Given the description of an element on the screen output the (x, y) to click on. 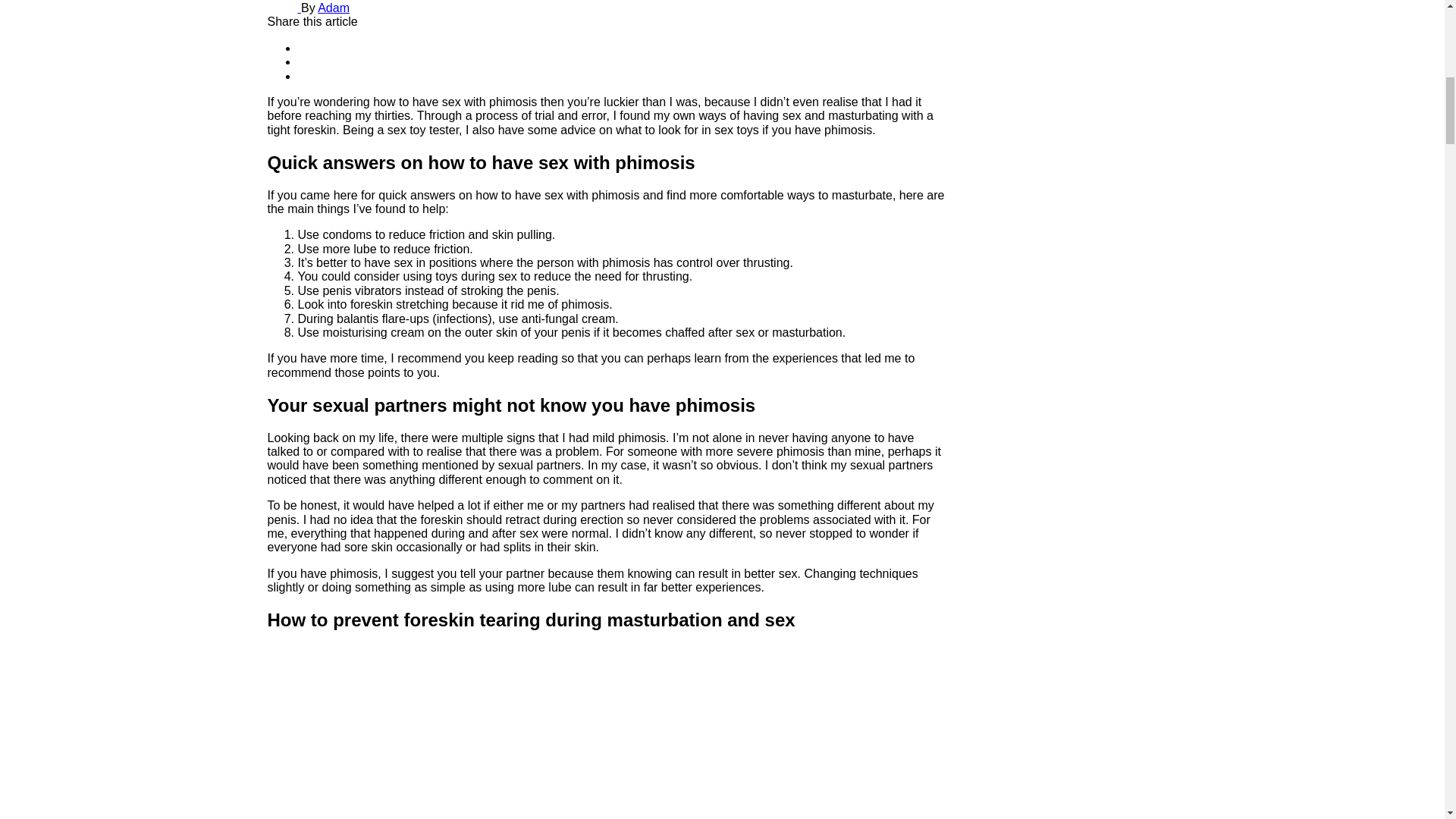
Posts by Adam (333, 7)
